Given the description of an element on the screen output the (x, y) to click on. 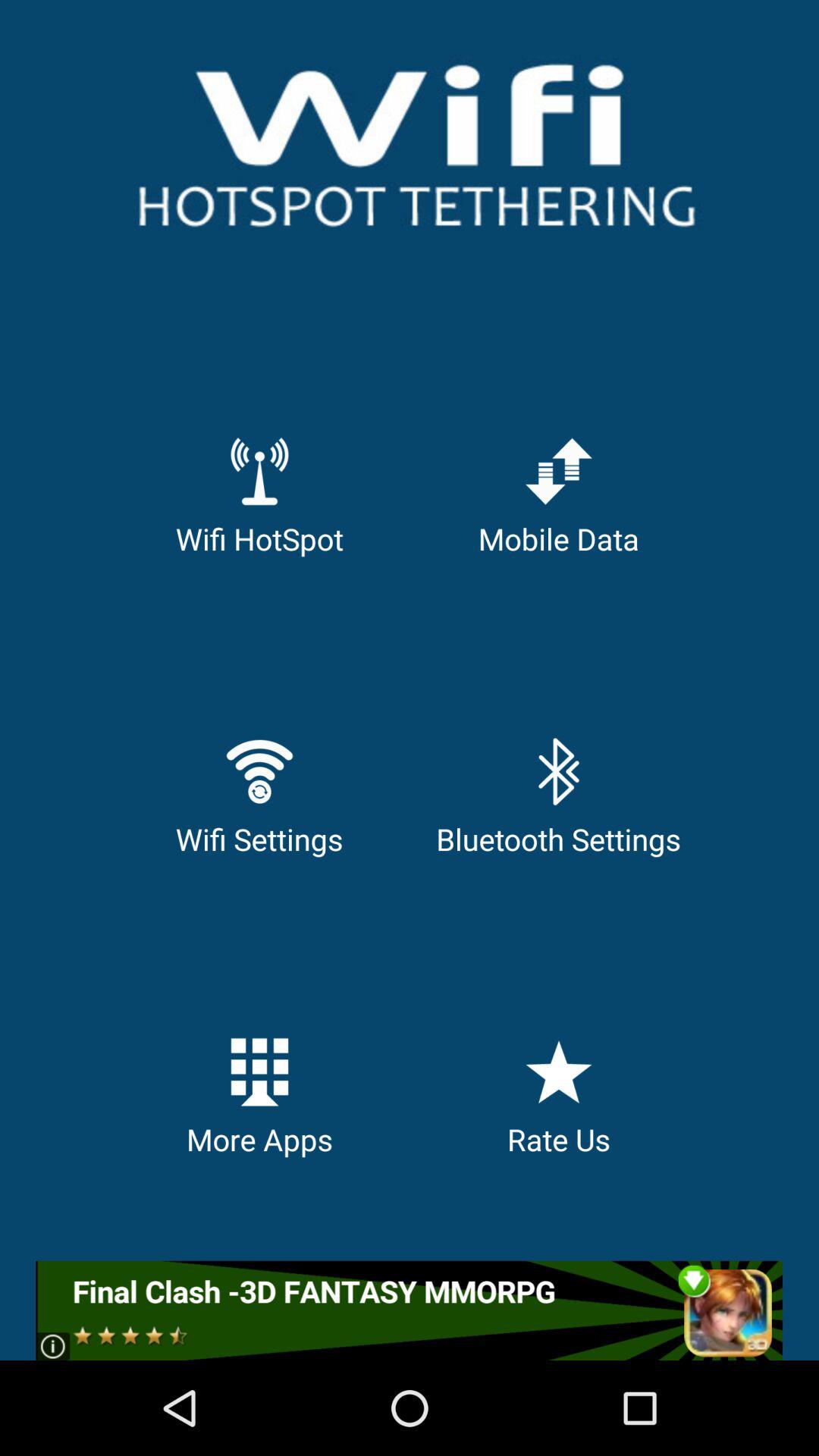
select the bluetooth icon (558, 770)
select the more apps icon (259, 1071)
tap the wifi hotspot icon (259, 470)
select the button above the text mobile data (558, 470)
